Given the description of an element on the screen output the (x, y) to click on. 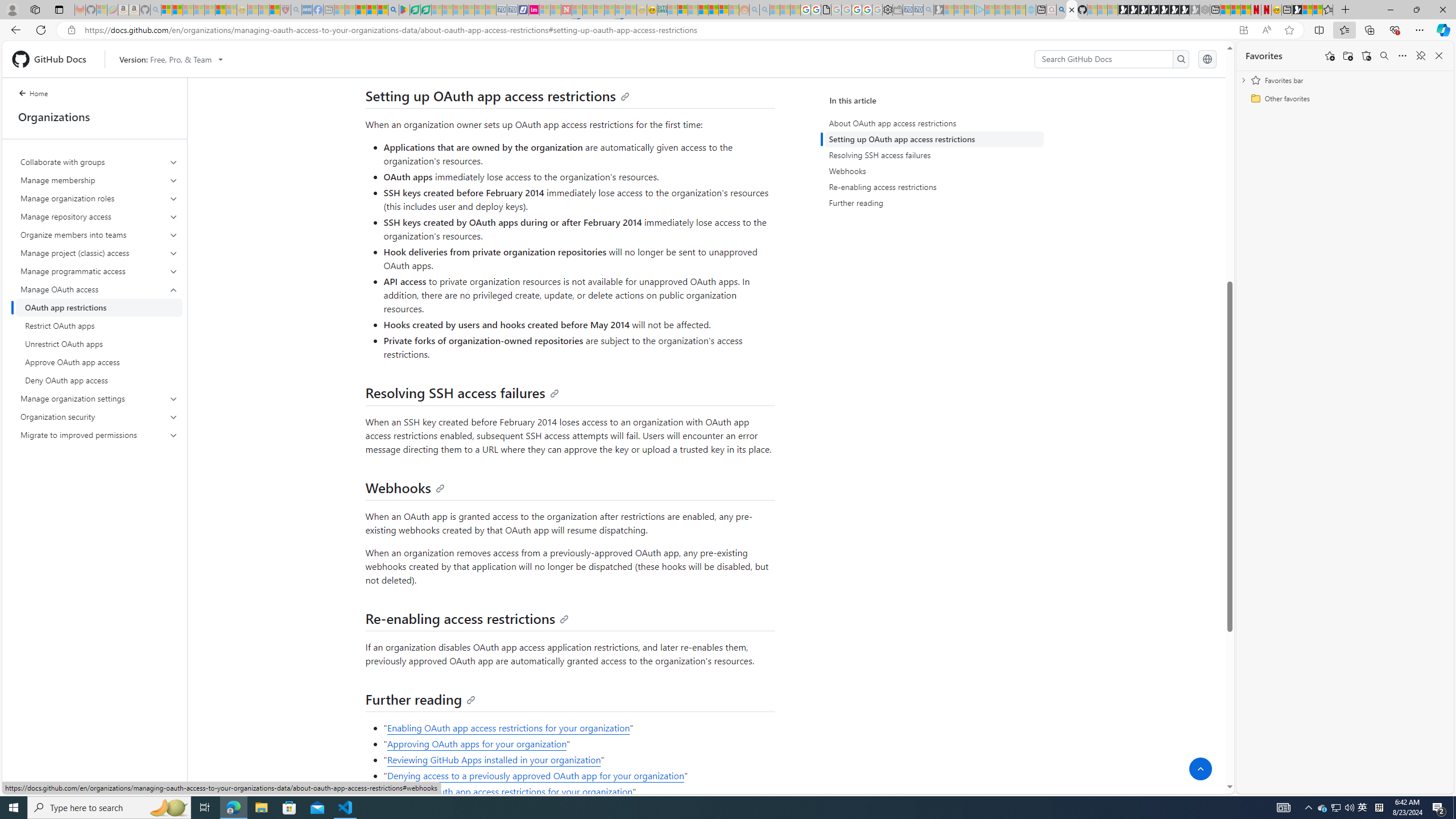
Manage repository access (99, 216)
About OAuth app access restrictions - GitHub Docs (1071, 9)
"Reviewing GitHub Apps installed in your organization" (578, 759)
Play Cave FRVR in your browser | Games from Microsoft Start (1143, 9)
Manage project (classic) access (99, 253)
Re-enabling access restrictions (467, 617)
